Given the description of an element on the screen output the (x, y) to click on. 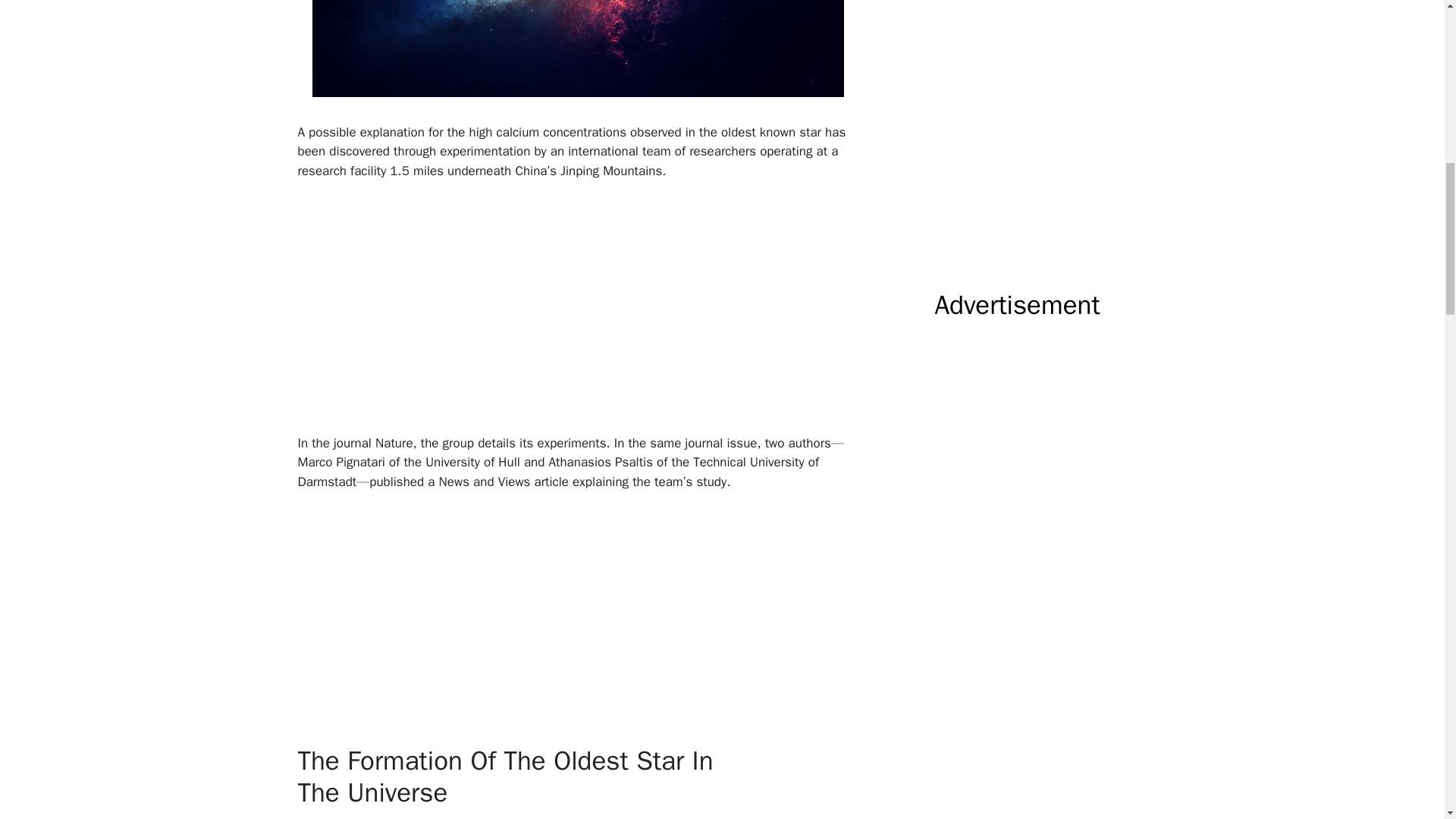
Scroll back to top (1406, 720)
